Given the description of an element on the screen output the (x, y) to click on. 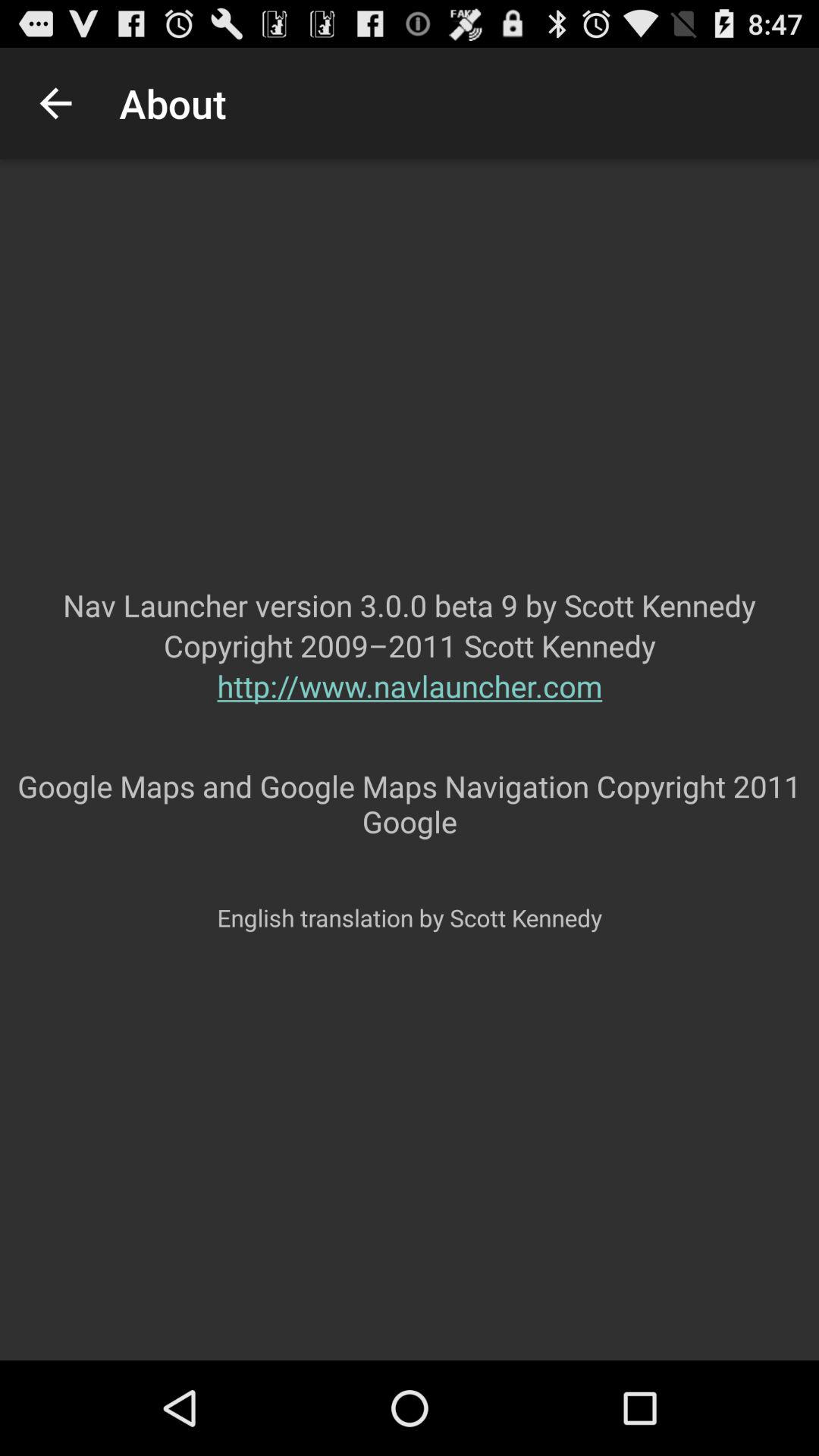
click the item next to about icon (55, 103)
